Given the description of an element on the screen output the (x, y) to click on. 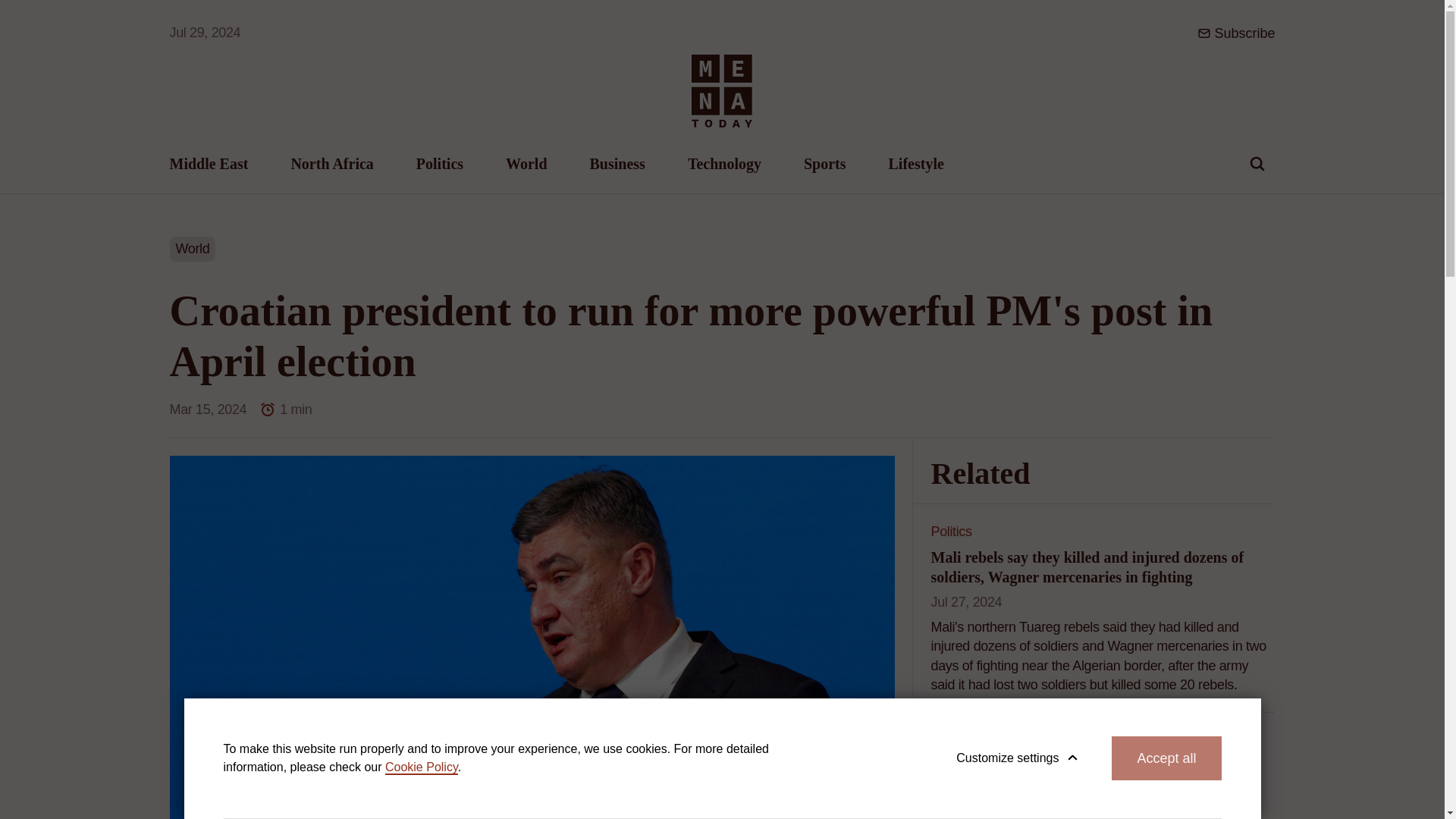
Lifestyle (915, 163)
World (192, 248)
Sports (824, 163)
Business (617, 163)
Search (1257, 163)
World (526, 163)
Middle East (209, 163)
Subscribe (1244, 33)
Technology (724, 163)
Politics (439, 163)
North Africa (330, 163)
